Given the description of an element on the screen output the (x, y) to click on. 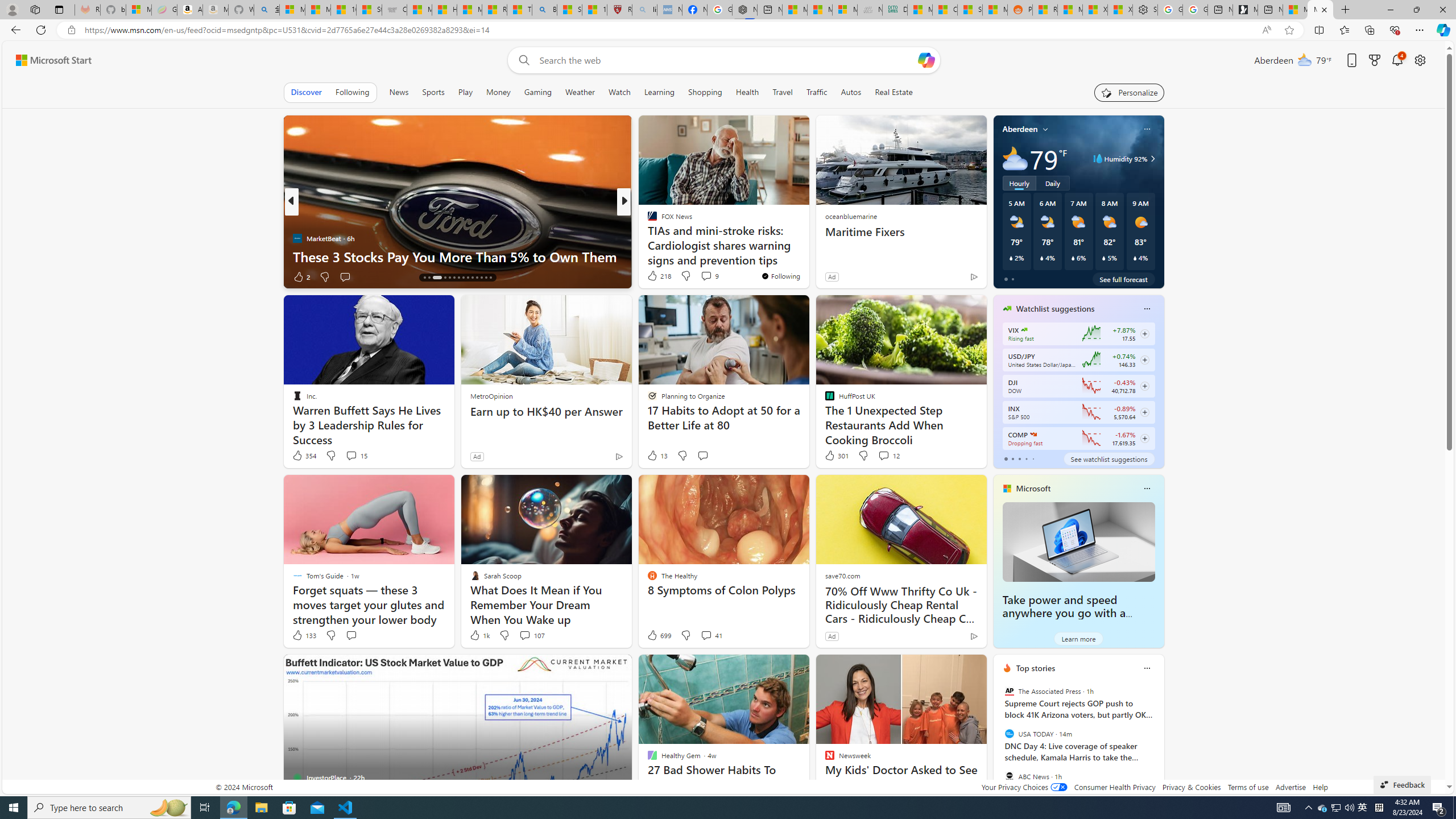
The Hearty Soul (647, 219)
NASDAQ (1032, 434)
Sports (432, 92)
13 Like (657, 455)
Take power and speed anywhere you go with a Windows laptop. (1063, 613)
View comments 1 Comment (697, 276)
oceanbluemarine (850, 215)
AutomationID: tab-26 (481, 277)
Sports (432, 92)
